Given the description of an element on the screen output the (x, y) to click on. 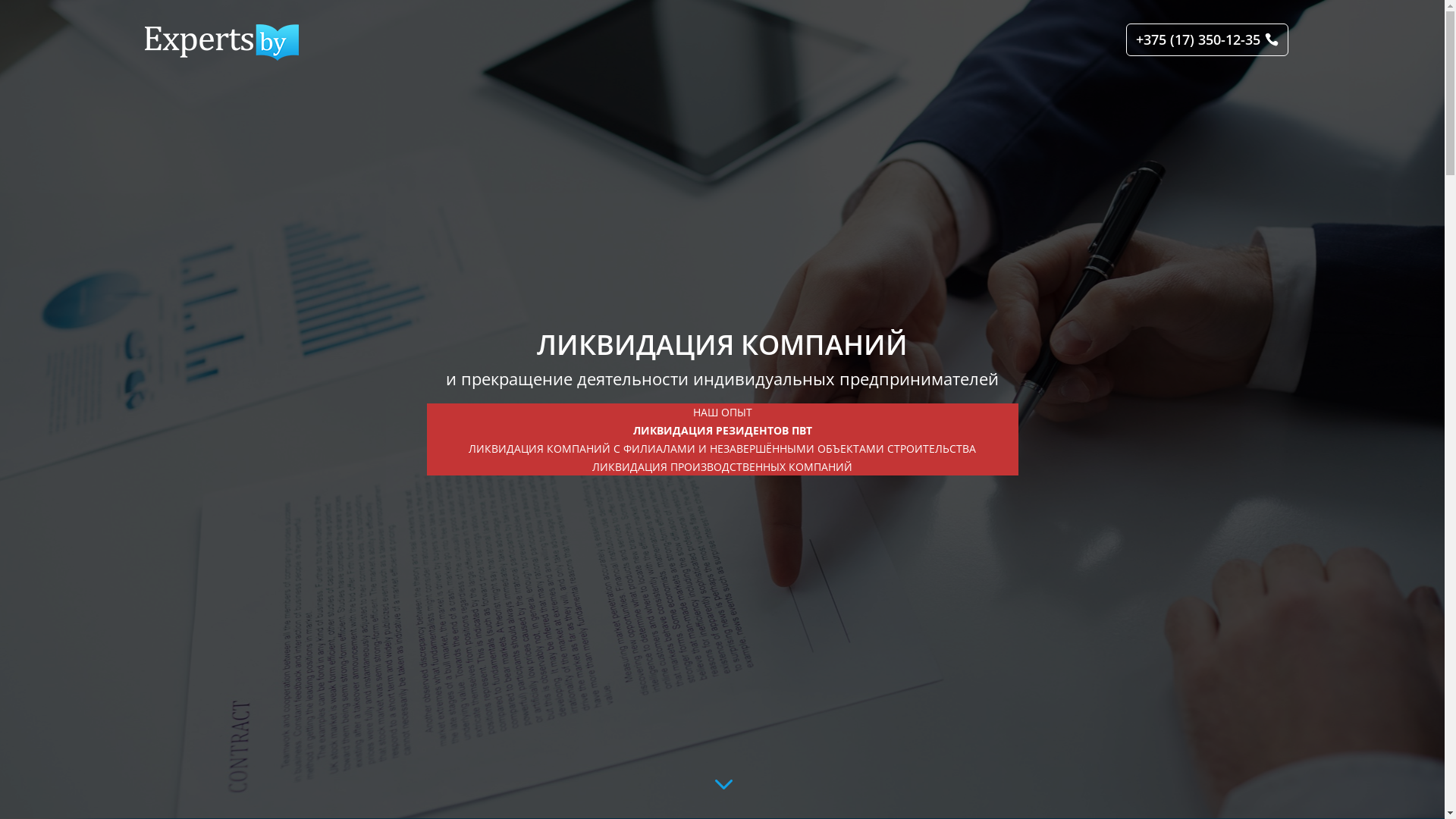
3 Element type: text (721, 783)
